Given the description of an element on the screen output the (x, y) to click on. 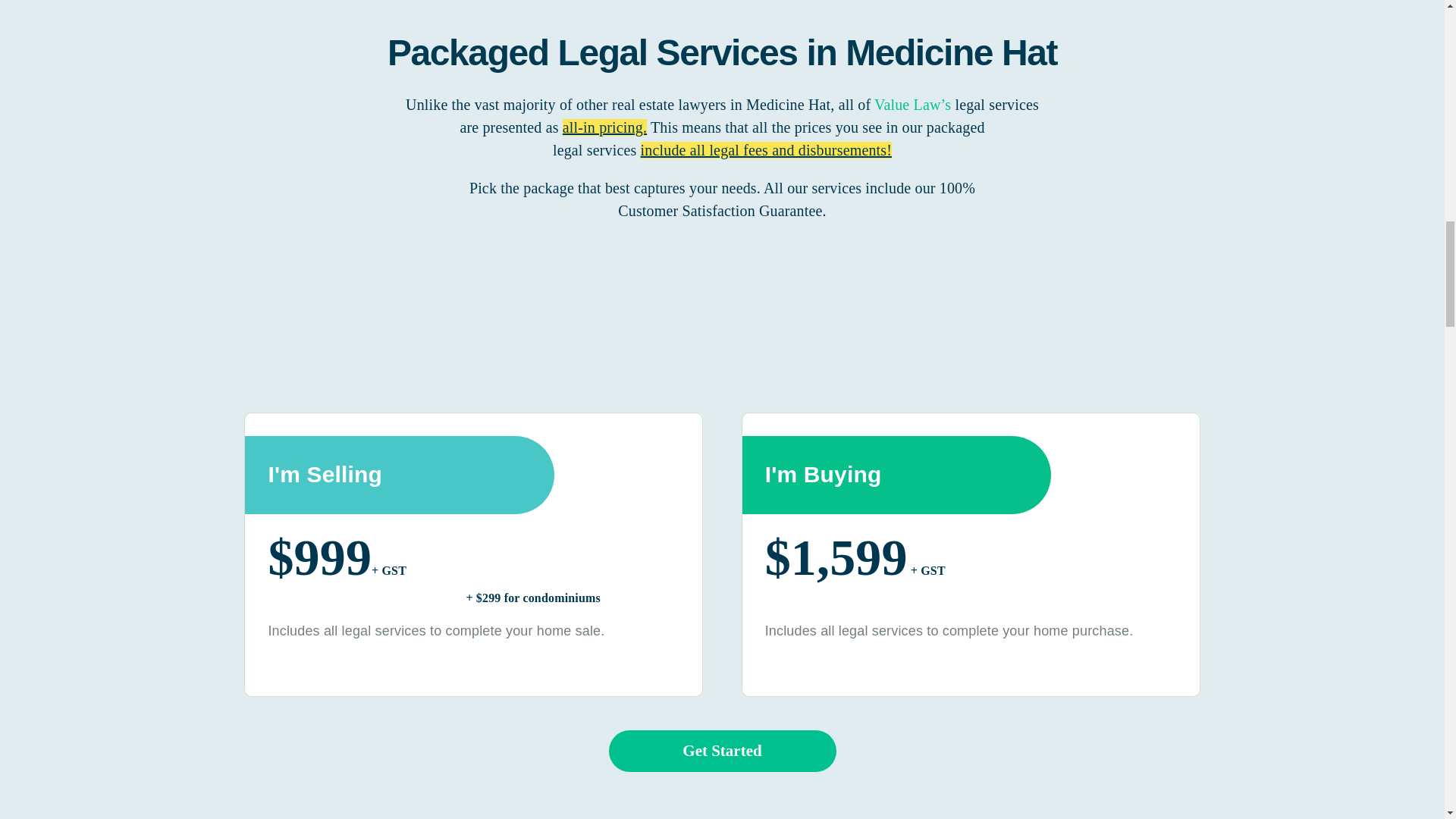
Satisfaction badge (490, 316)
Asset-23 (888, 315)
